Given the description of an element on the screen output the (x, y) to click on. 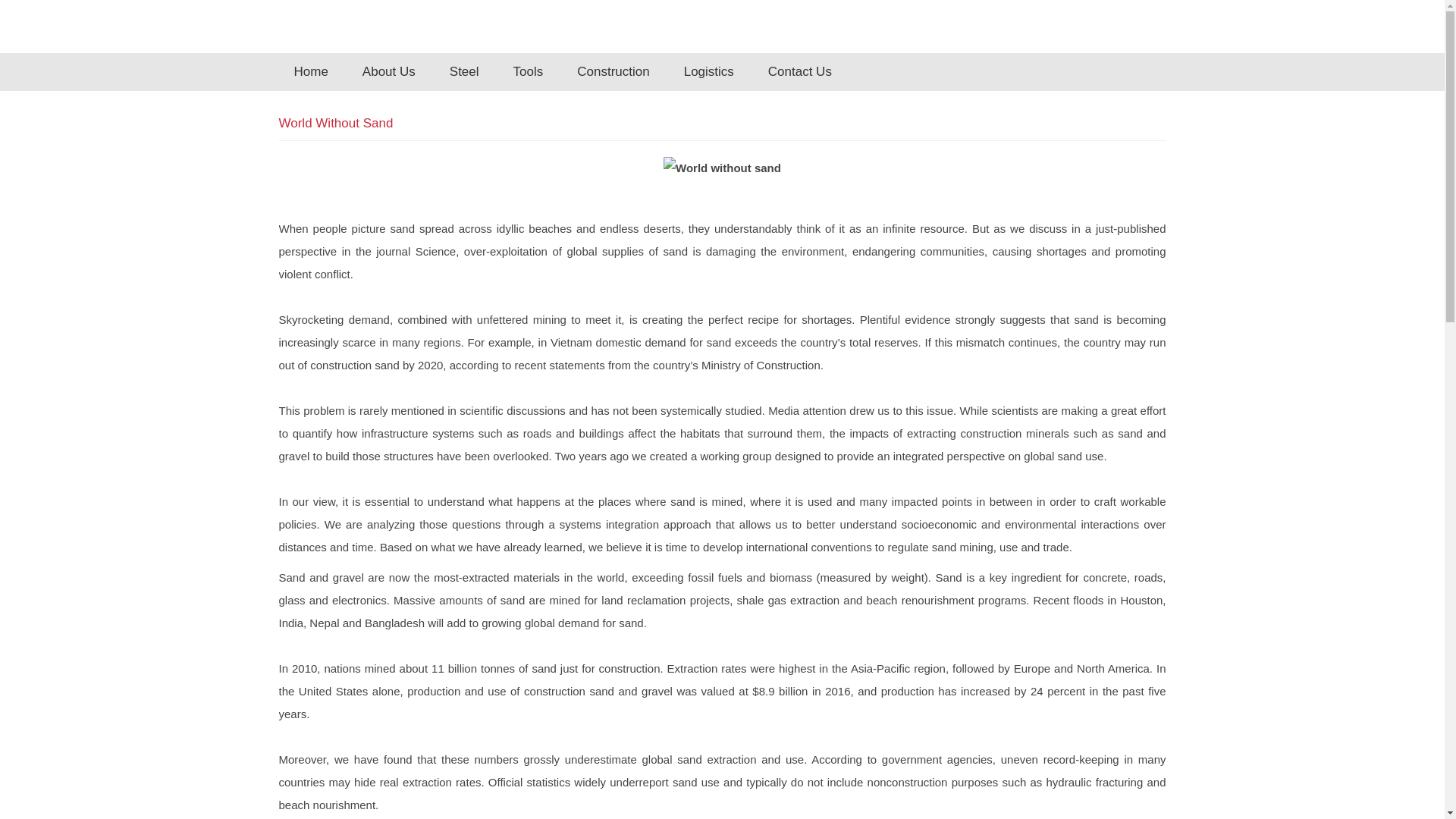
Steel Element type: text (464, 72)
World without sand Element type: hover (722, 167)
Tools Element type: text (528, 72)
Construction Element type: text (612, 72)
About Us Element type: text (388, 72)
Contact Us Element type: text (800, 72)
World Without Sand Element type: text (336, 123)
Logistics Element type: text (708, 72)
Home Element type: text (311, 72)
